Given the description of an element on the screen output the (x, y) to click on. 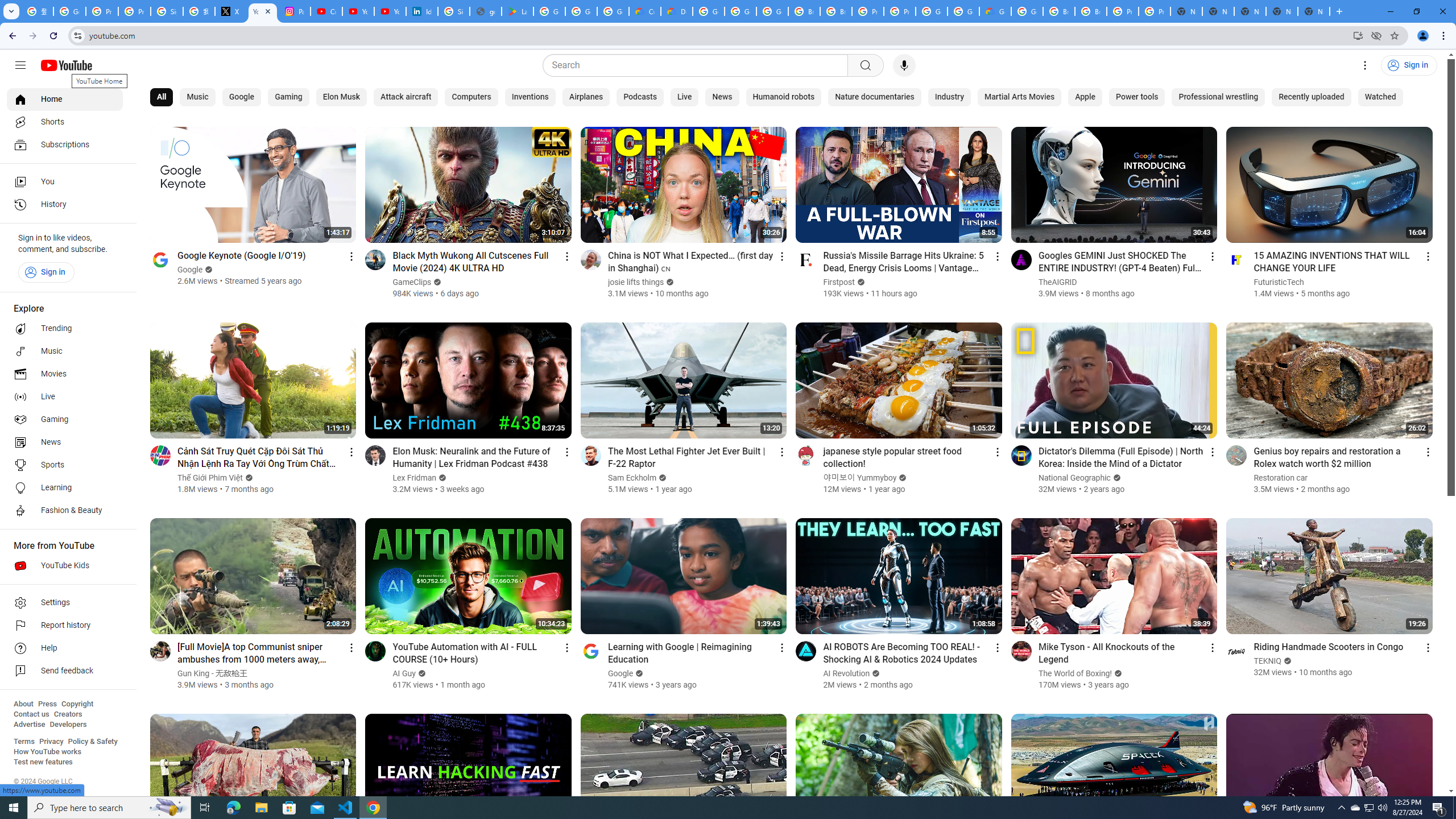
Shorts (64, 121)
Podcasts (639, 97)
New Tab (1313, 11)
YouTube Culture & Trends - YouTube Top 10, 2021 (389, 11)
National Geographic (1075, 477)
Airplanes (586, 97)
Gaming (287, 97)
